Given the description of an element on the screen output the (x, y) to click on. 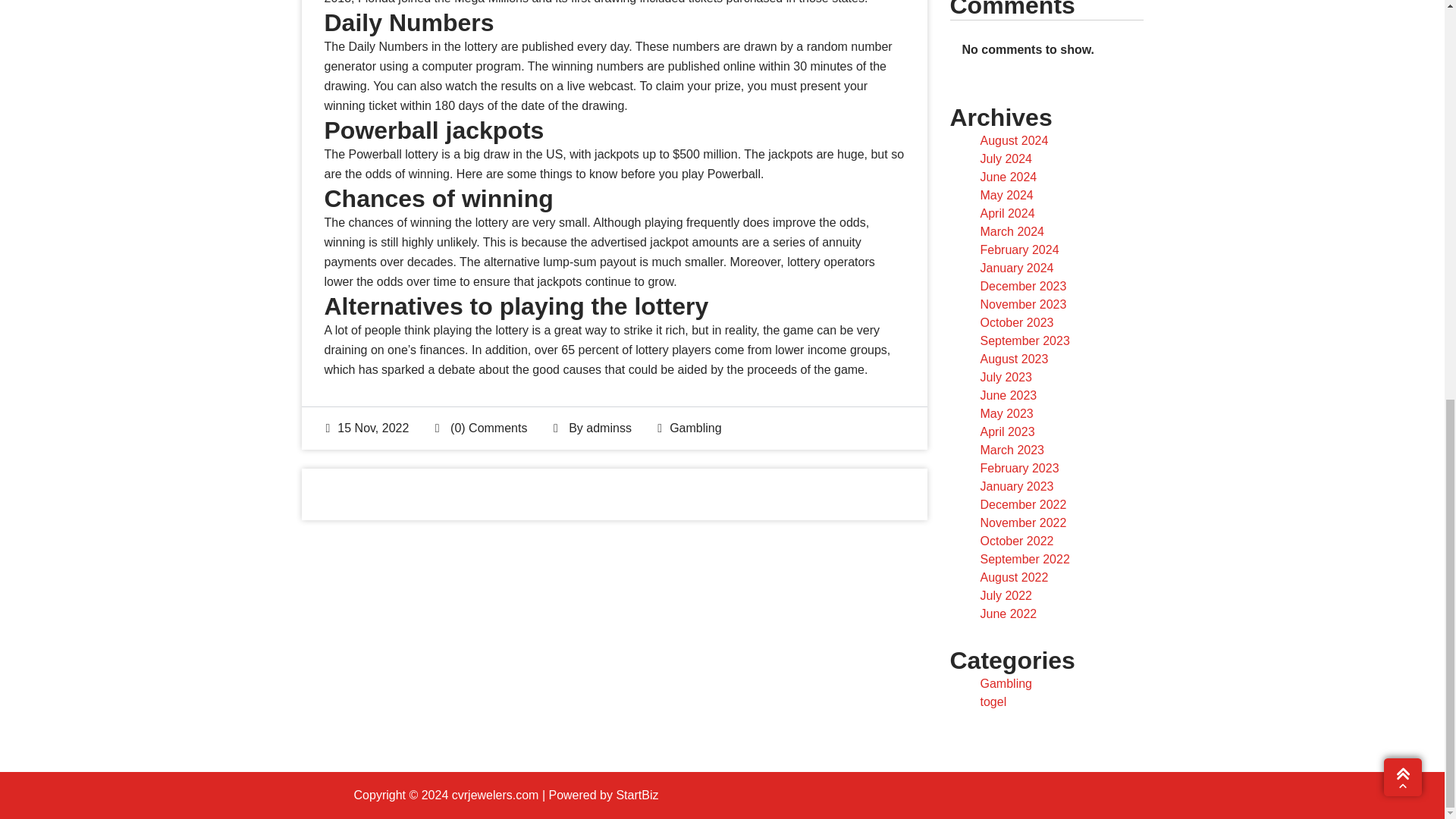
July 2024 (1005, 158)
February 2024 (1018, 249)
adminss (608, 500)
June 2024 (1007, 176)
August 2024 (1013, 140)
May 2024 (1005, 195)
January 2023 (1015, 486)
December 2022 (1022, 504)
June 2023 (1007, 395)
September 2023 (1023, 340)
